Given the description of an element on the screen output the (x, y) to click on. 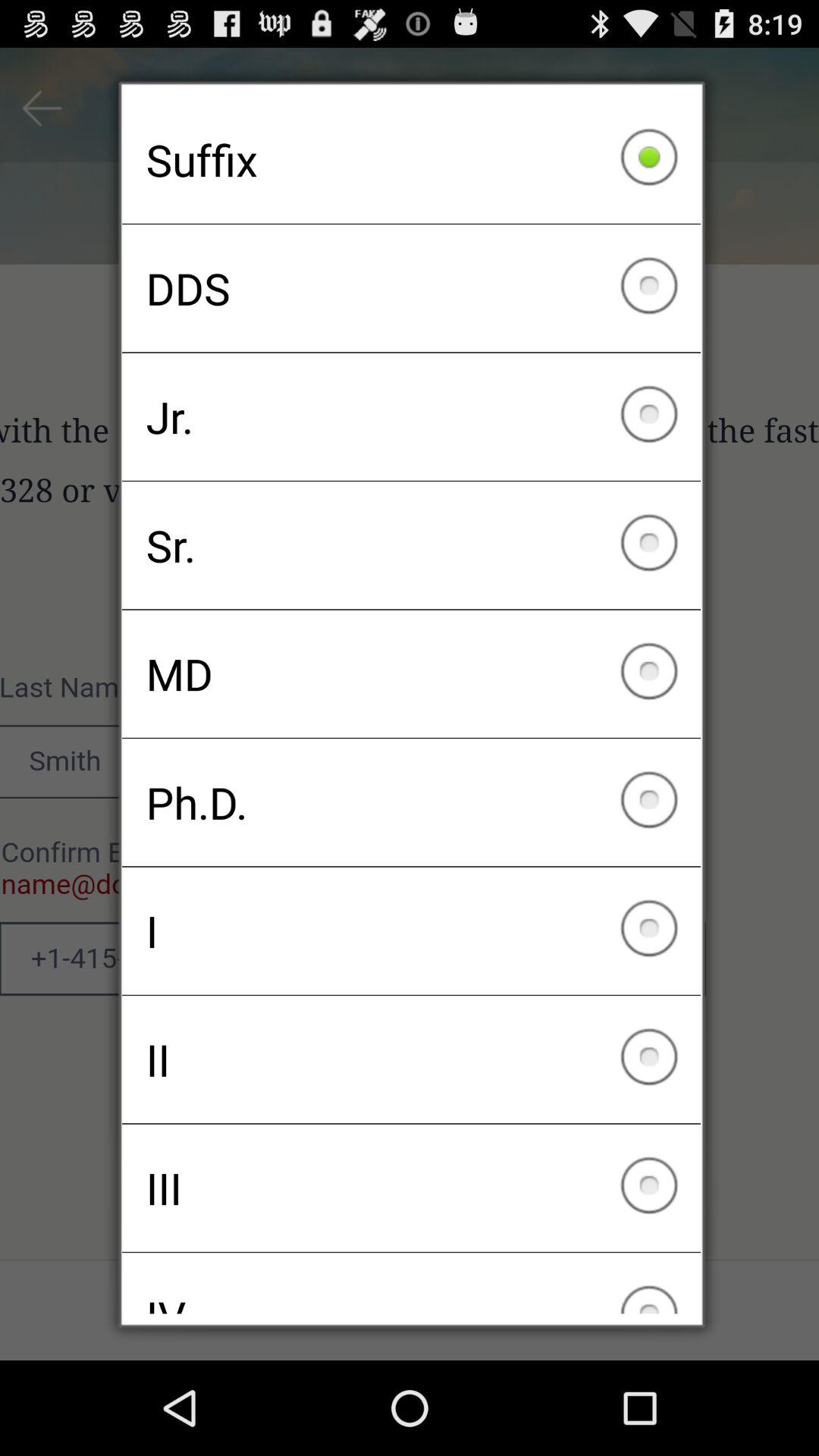
click the icon above md icon (411, 545)
